Given the description of an element on the screen output the (x, y) to click on. 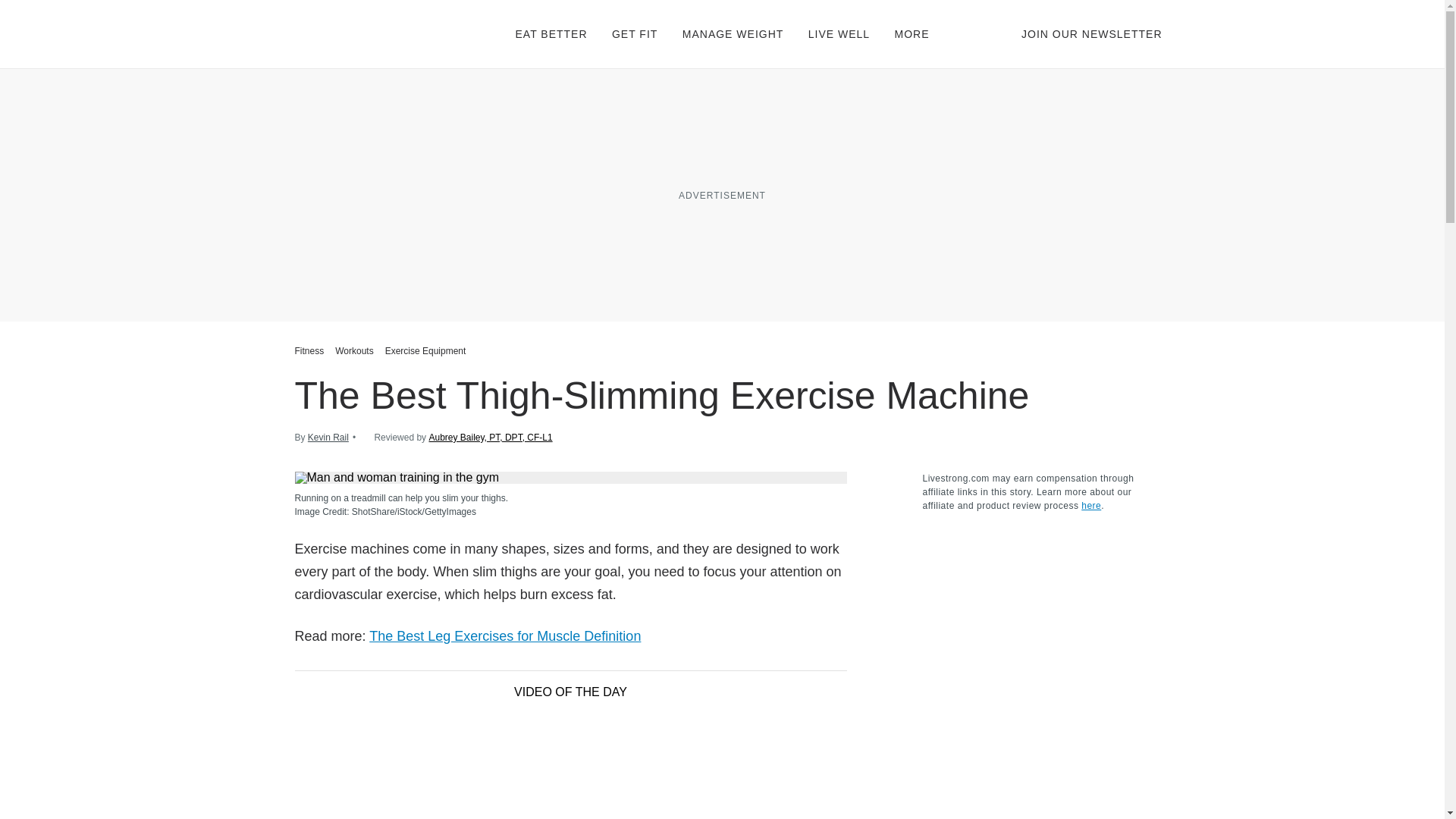
JOIN OUR NEWSLETTER (1091, 33)
The Best Leg Exercises for Muscle Definition (504, 635)
Aubrey Bailey, PT, DPT, CF-L1 (489, 437)
Kevin Rail (328, 437)
Exercise Equipment (425, 350)
Learn more about our affiliate and product review process (1090, 505)
LIVE WELL (838, 33)
Workouts (354, 350)
EAT BETTER (551, 33)
MANAGE WEIGHT (733, 33)
